Given the description of an element on the screen output the (x, y) to click on. 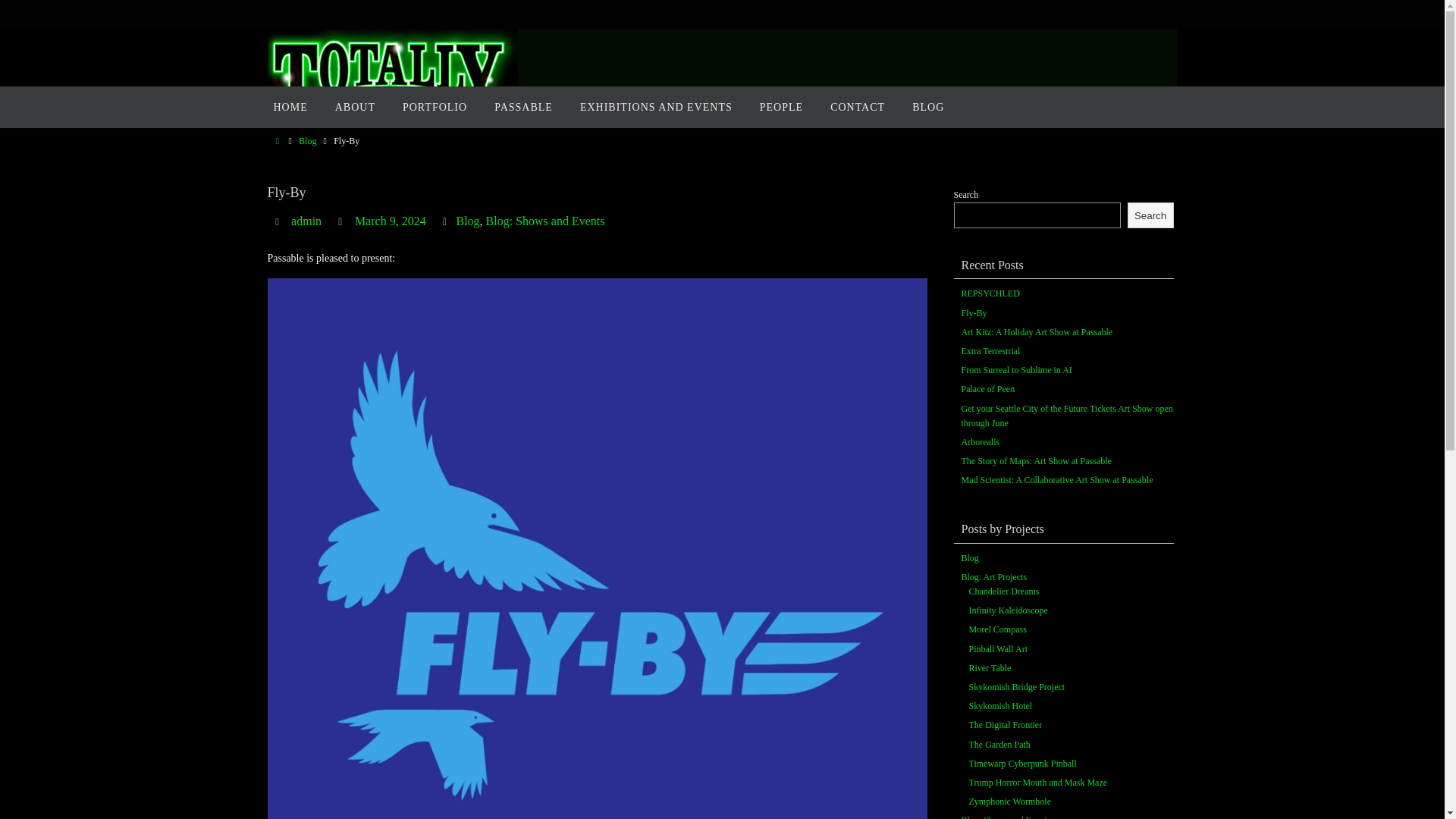
REPSYCHLED (990, 293)
Chandelier Dreams (1004, 591)
PORTFOLIO (434, 106)
Blog (306, 140)
Skykomish Bridge Project (1017, 686)
admin (306, 221)
Mad Scientist: A Collaborative Art Show at Passable (1056, 480)
CONTACT (857, 106)
PASSABLE (523, 106)
Skykomish Hotel (1000, 706)
